Given the description of an element on the screen output the (x, y) to click on. 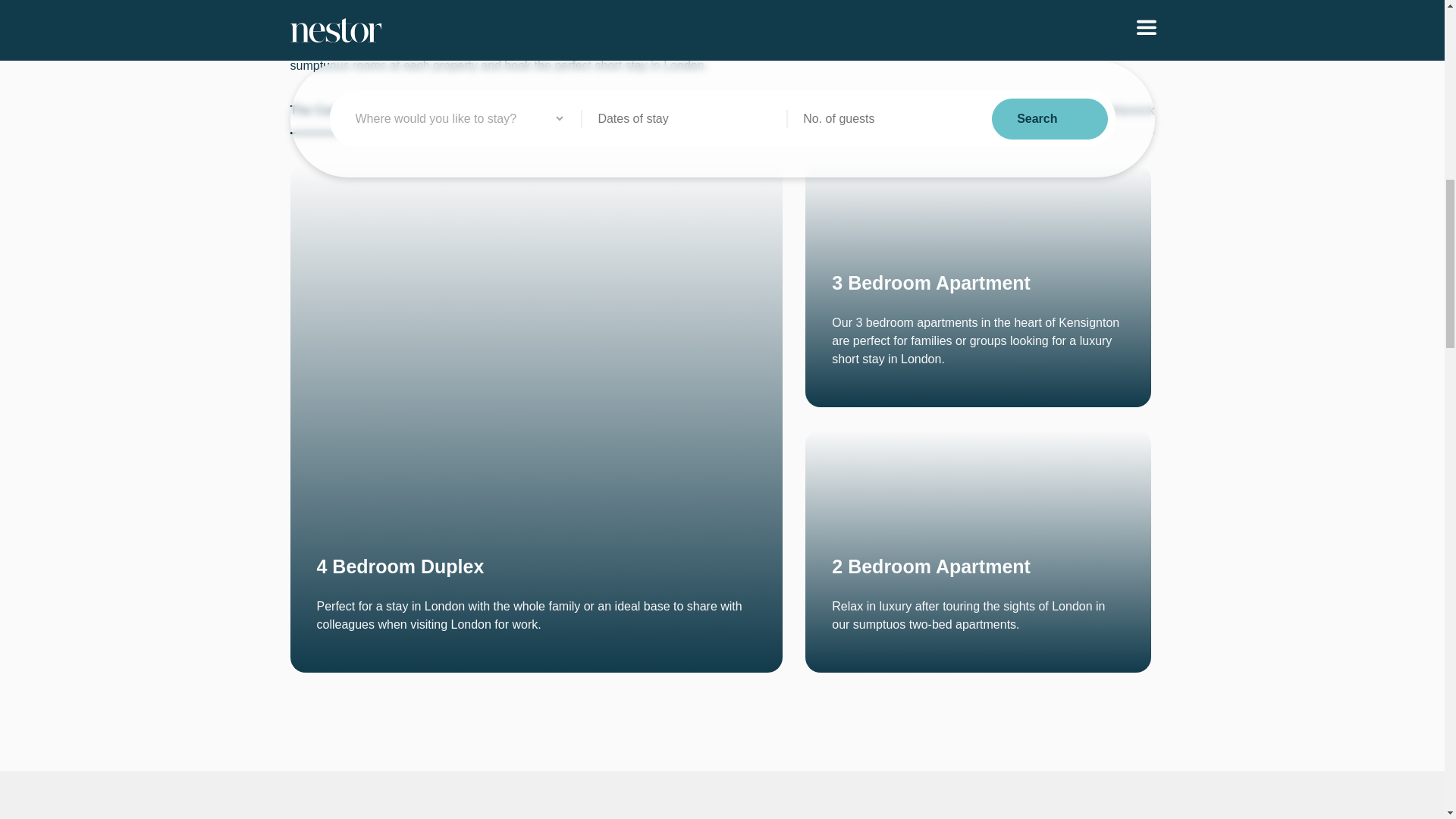
The Knaresborough (953, 111)
The Brondesbury (775, 111)
The Courtfield (470, 111)
The Haydon (619, 111)
The Carlyle (322, 111)
The Warwick (1119, 111)
